Given the description of an element on the screen output the (x, y) to click on. 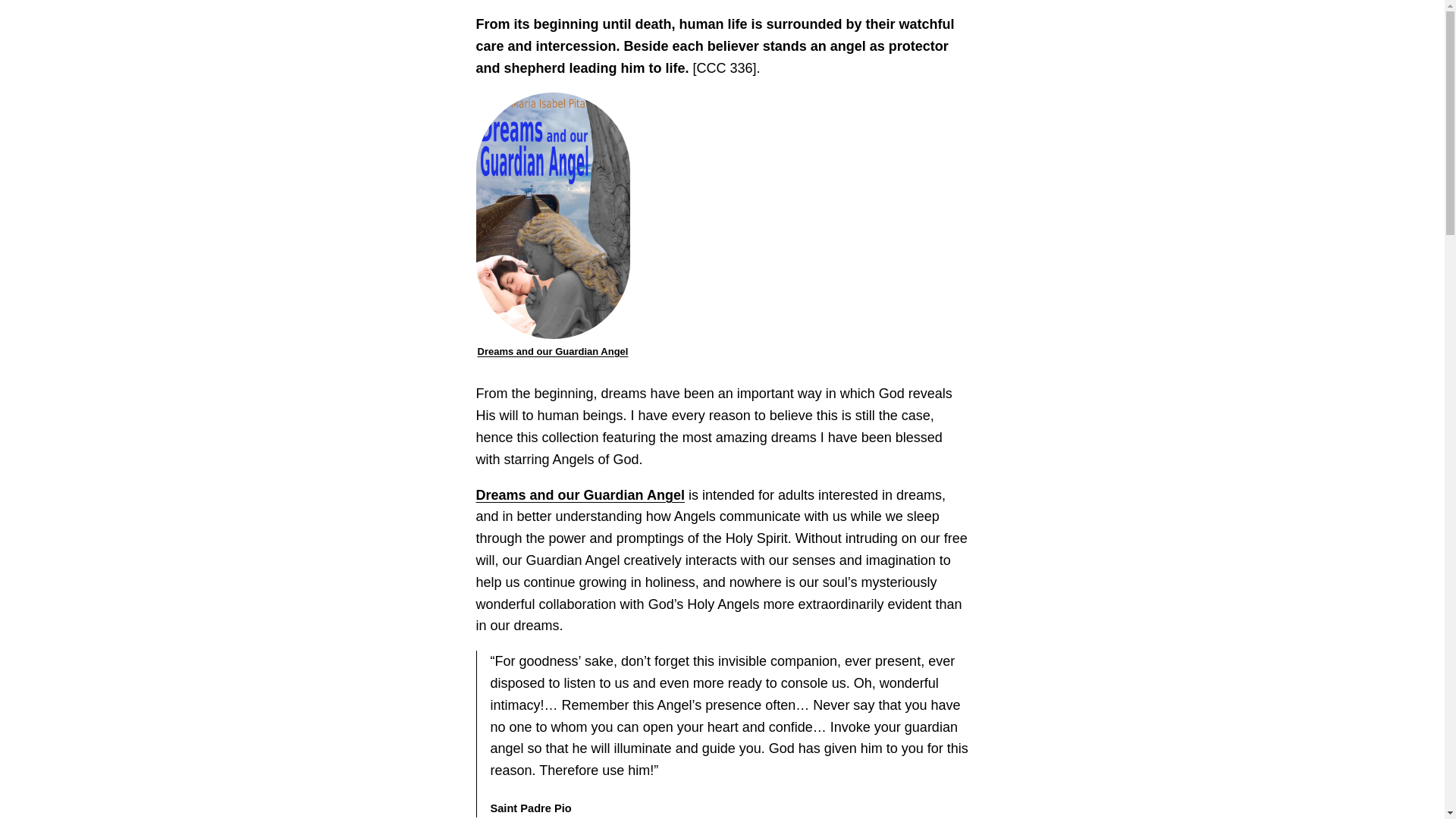
Dreams and our Guardian Angel (552, 351)
Dreams and our Guardian Angel (580, 494)
